Given the description of an element on the screen output the (x, y) to click on. 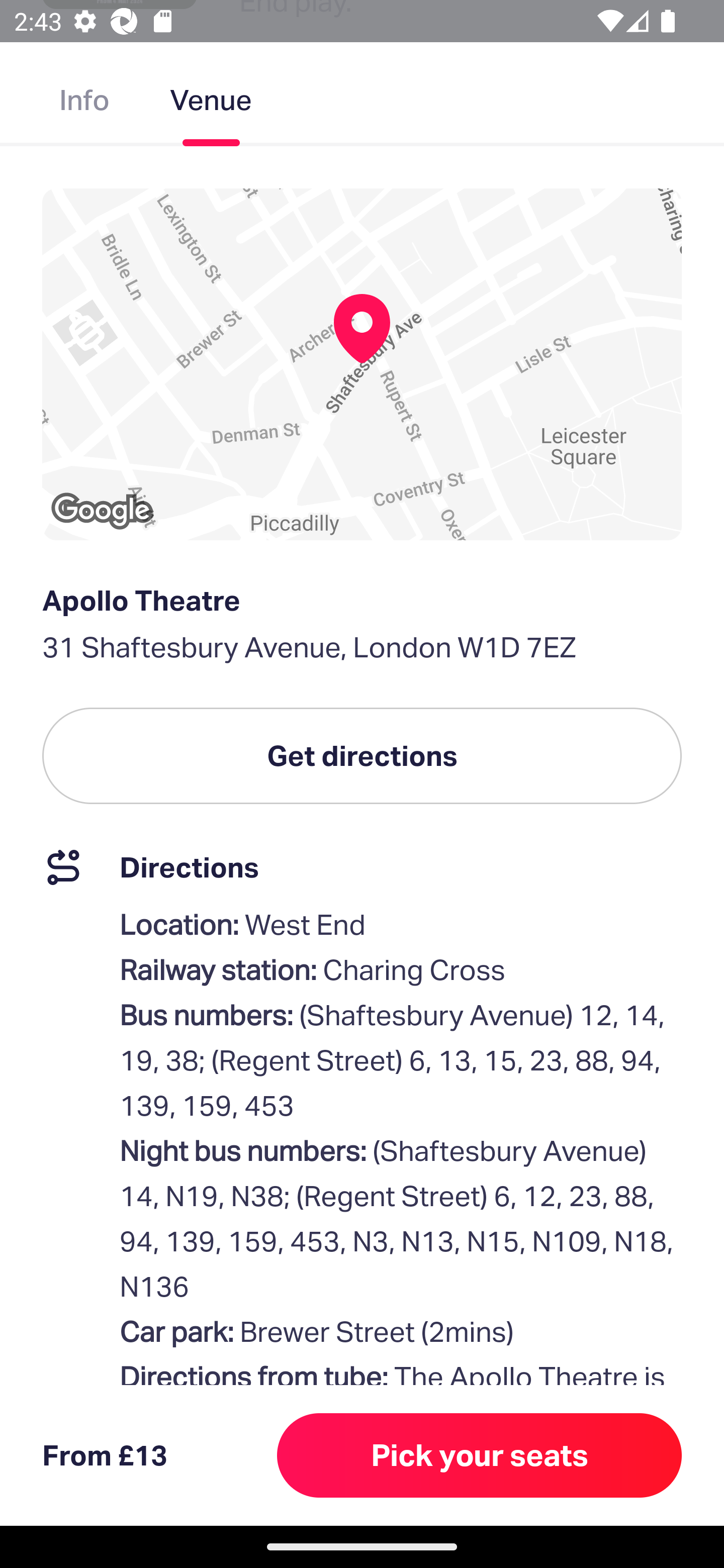
Info (83, 103)
Google Map Apollo Theatre.  (361, 364)
Get directions (361, 755)
Pick your seats (479, 1454)
